Given the description of an element on the screen output the (x, y) to click on. 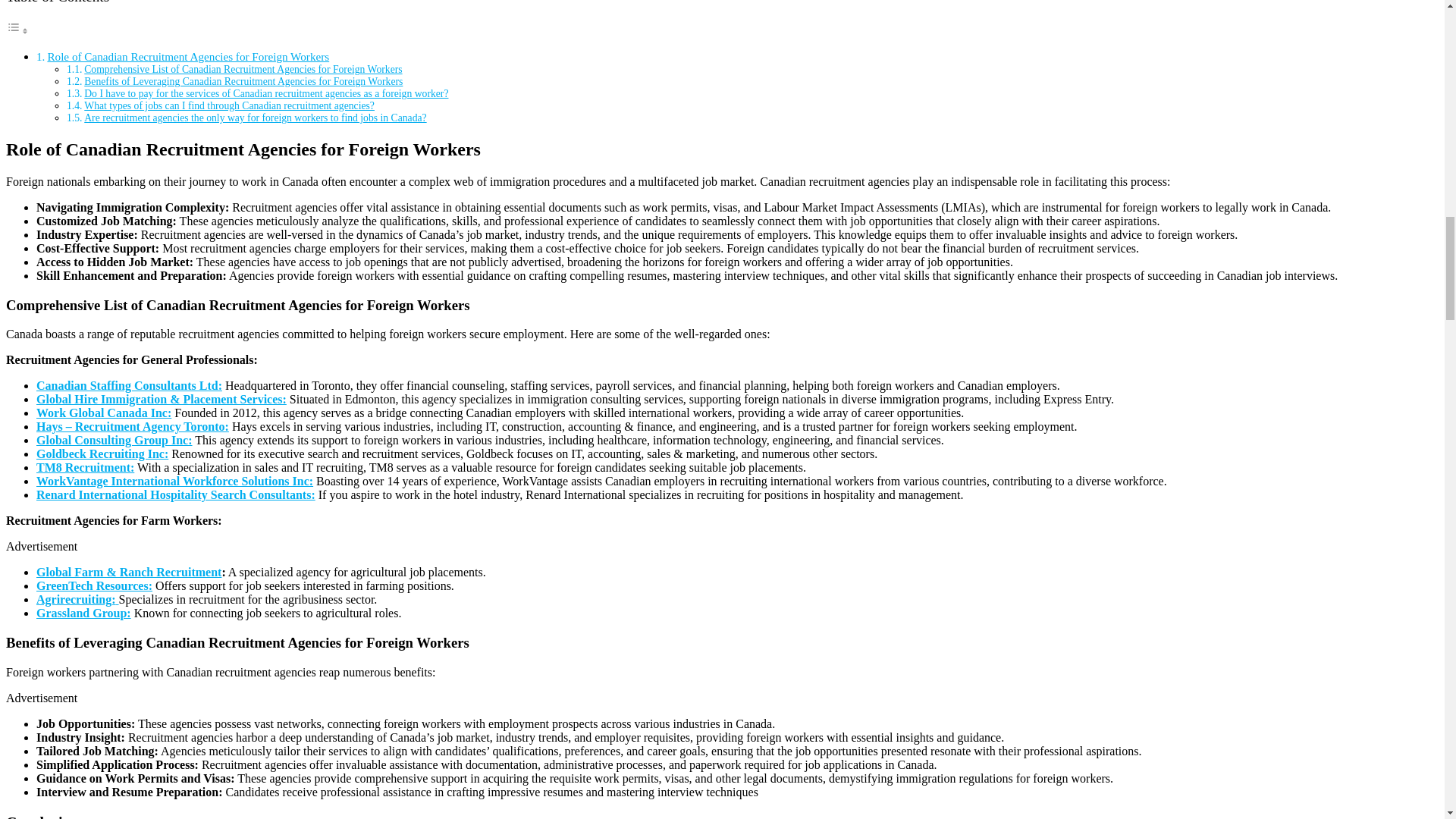
Global Consulting Group Inc: (114, 440)
Role of Canadian Recruitment Agencies for Foreign Workers (187, 56)
Renard International Hospitality Search Consultants: (175, 494)
TM8 Recruitment: (84, 467)
Role of Canadian Recruitment Agencies for Foreign Workers (187, 56)
WorkVantage International Workforce Solutions Inc: (174, 481)
